Given the description of an element on the screen output the (x, y) to click on. 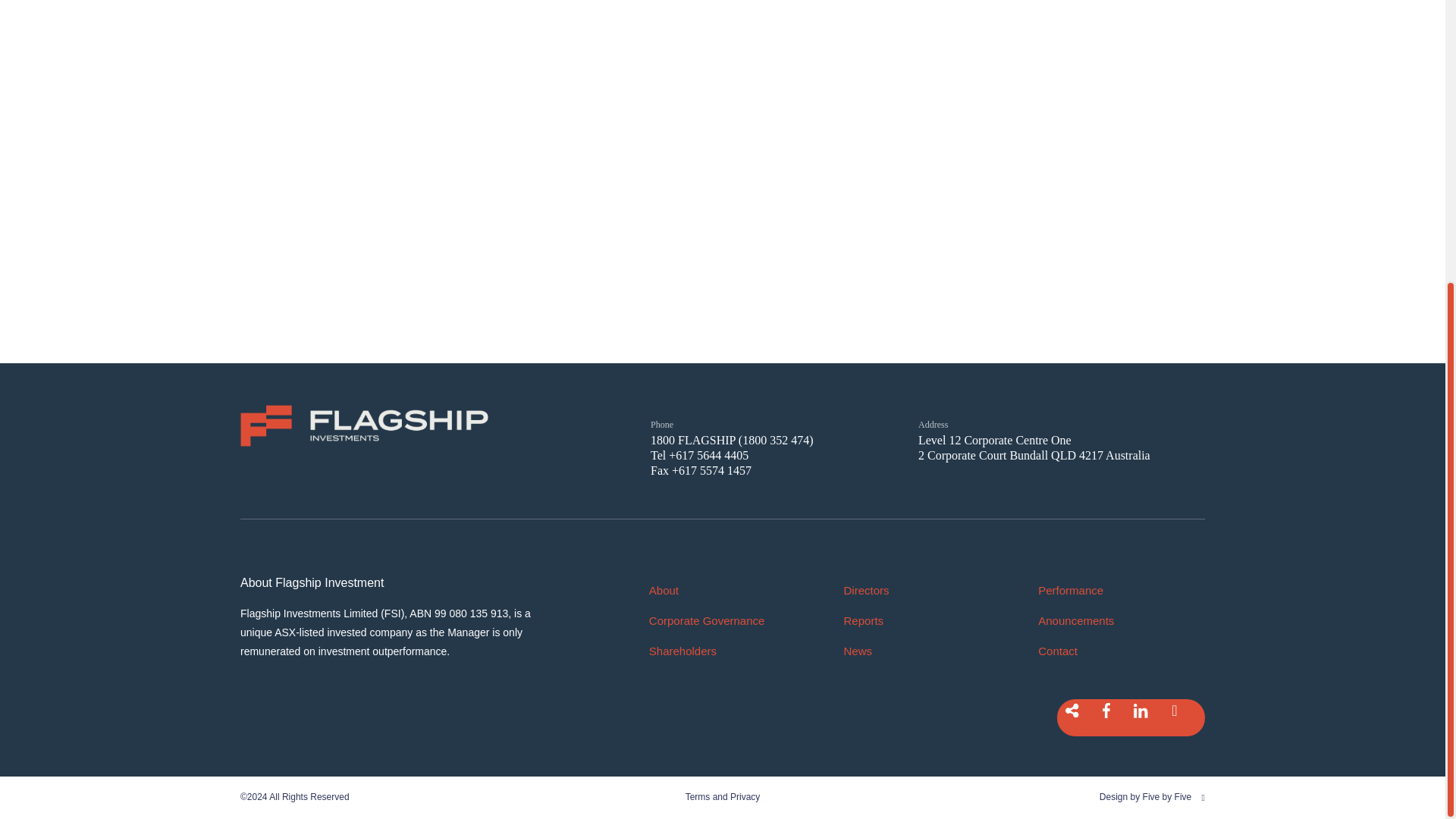
About (723, 590)
News (918, 651)
Shareholders (723, 651)
Corporate Governance (723, 620)
Anouncements (1113, 620)
Performance (1113, 590)
Contact (1113, 651)
Reports (918, 620)
Directors (918, 590)
